Given the description of an element on the screen output the (x, y) to click on. 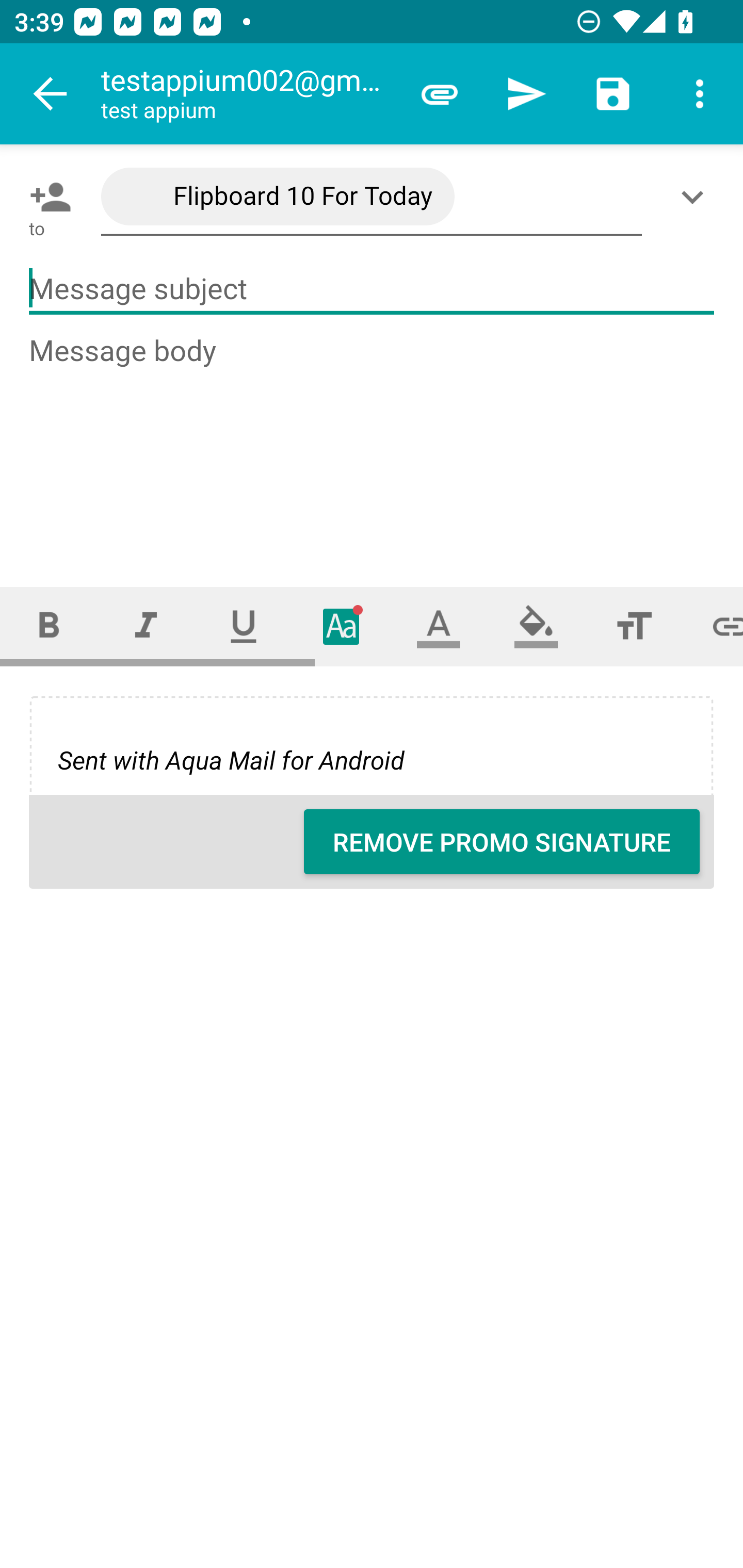
Navigate up (50, 93)
testappium002@gmail.com test appium (248, 93)
Attach (439, 93)
Send (525, 93)
Save (612, 93)
More options (699, 93)
Pick contact: To (46, 196)
Show/Add CC/BCC (696, 196)
Message subject (371, 288)
Message body (372, 442)
Bold (48, 626)
Italic (145, 626)
Underline (243, 626)
Typeface (font) (341, 626)
Text color (438, 626)
Fill color (536, 626)
Font size (633, 626)
REMOVE PROMO SIGNATURE (501, 841)
